Given the description of an element on the screen output the (x, y) to click on. 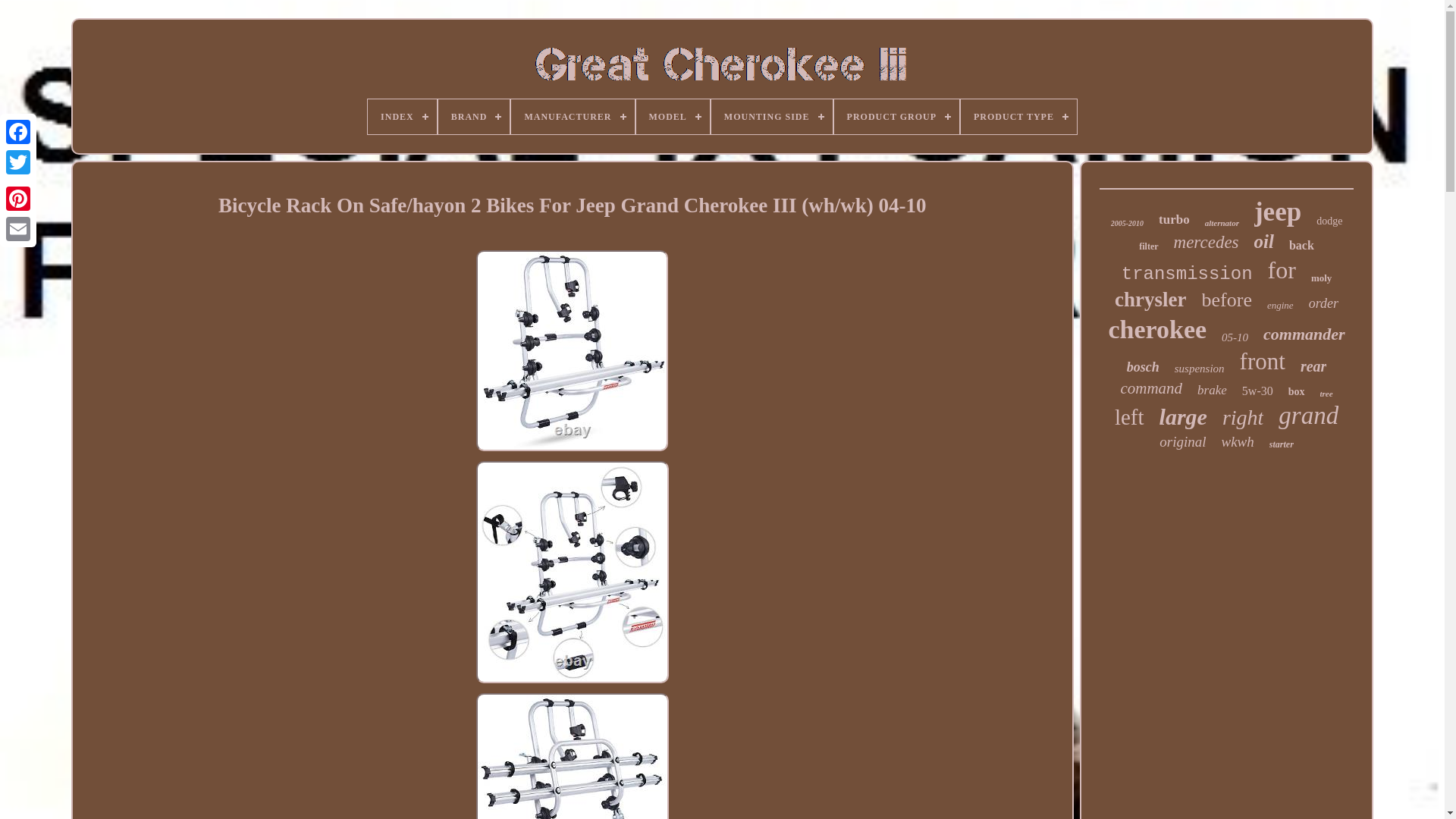
MANUFACTURER (572, 116)
BRAND (474, 116)
INDEX (402, 116)
